Given the description of an element on the screen output the (x, y) to click on. 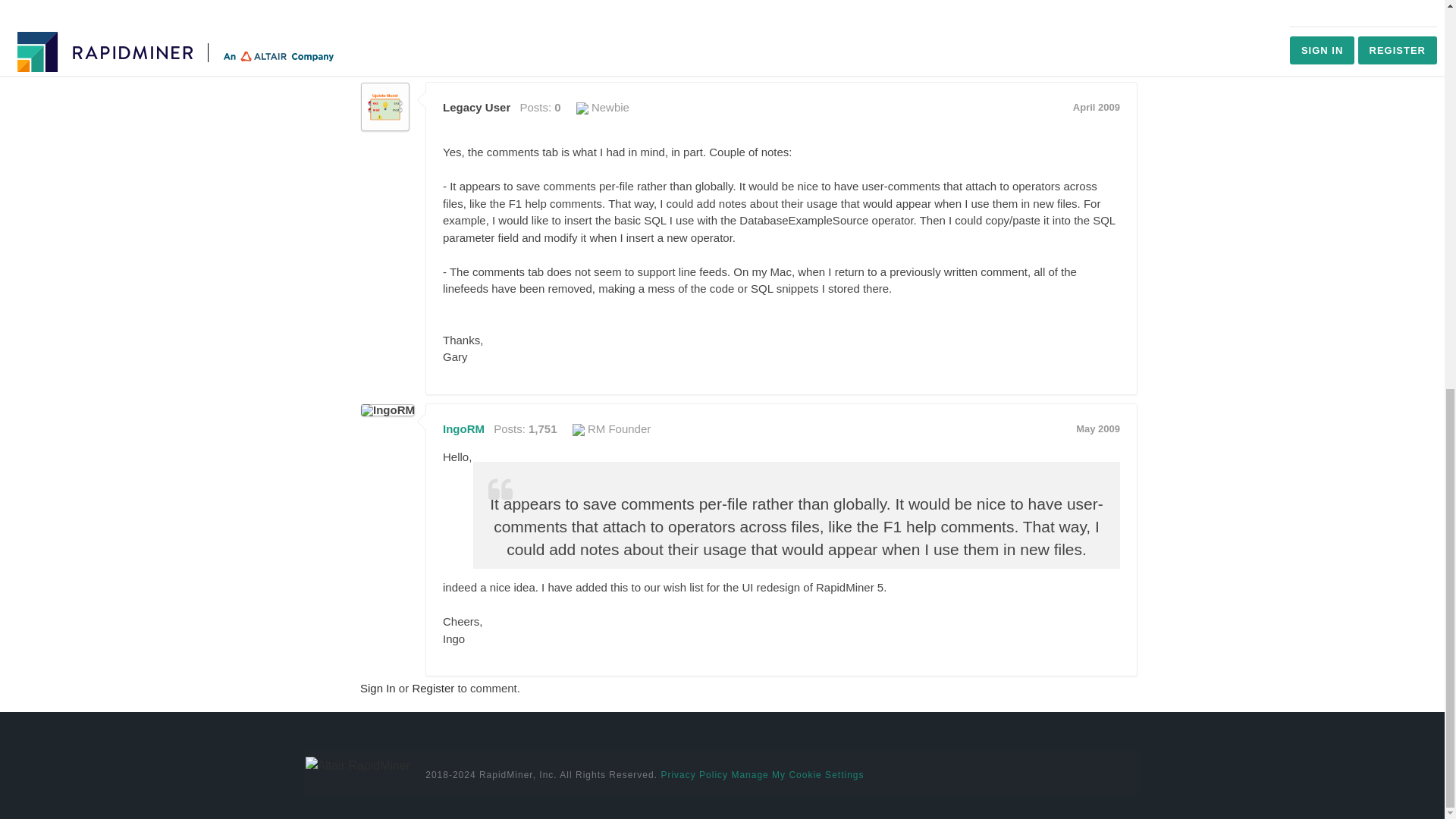
IngoRM (387, 410)
April 17, 2009 6:23PM (1096, 107)
Legacy User (385, 106)
Newbie (602, 106)
